Given the description of an element on the screen output the (x, y) to click on. 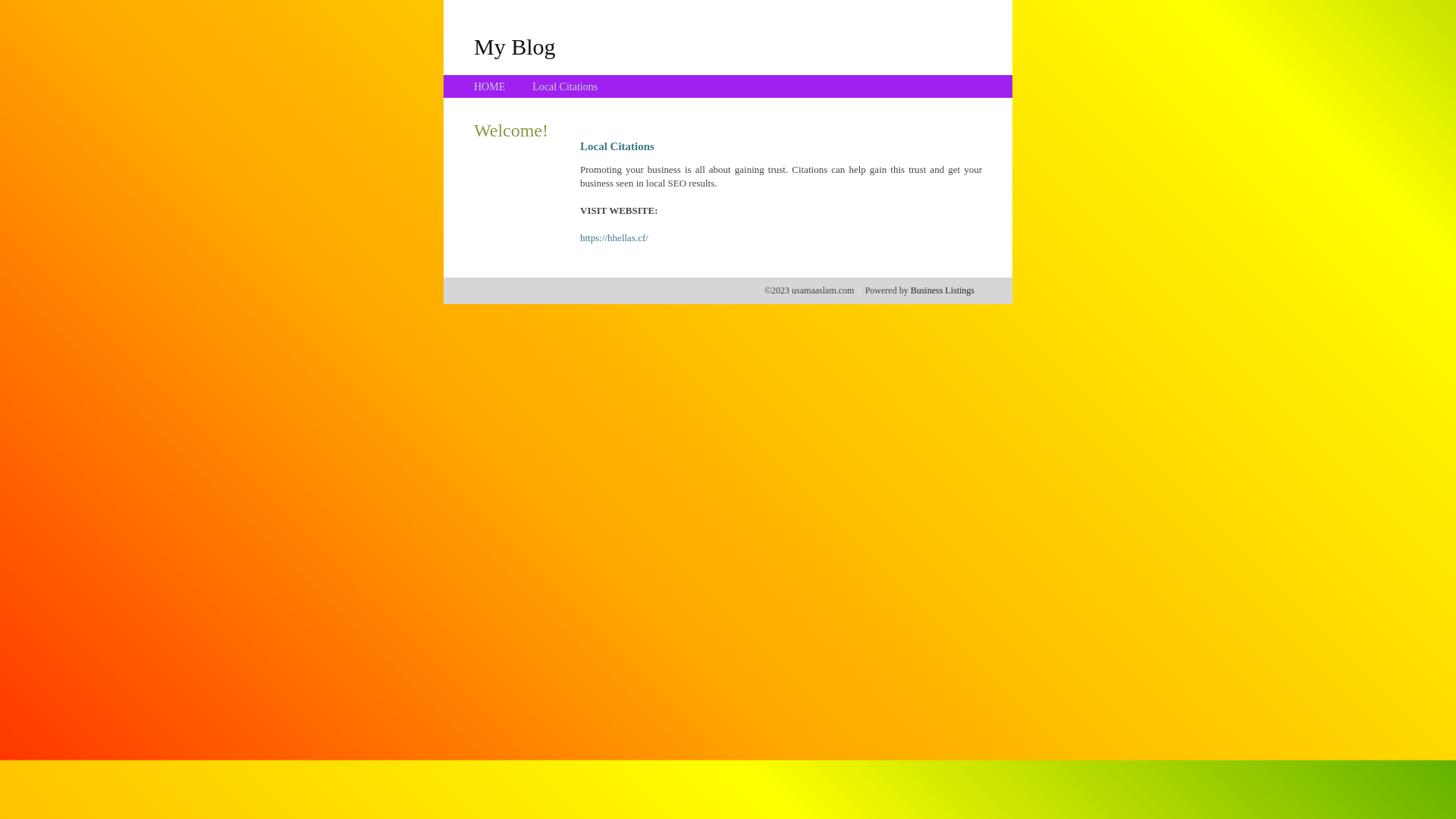
Business Listings Element type: text (942, 290)
https://hhellas.cf/ Element type: text (614, 237)
My Blog Element type: text (514, 46)
Local Citations Element type: text (564, 86)
HOME Element type: text (489, 86)
